Given the description of an element on the screen output the (x, y) to click on. 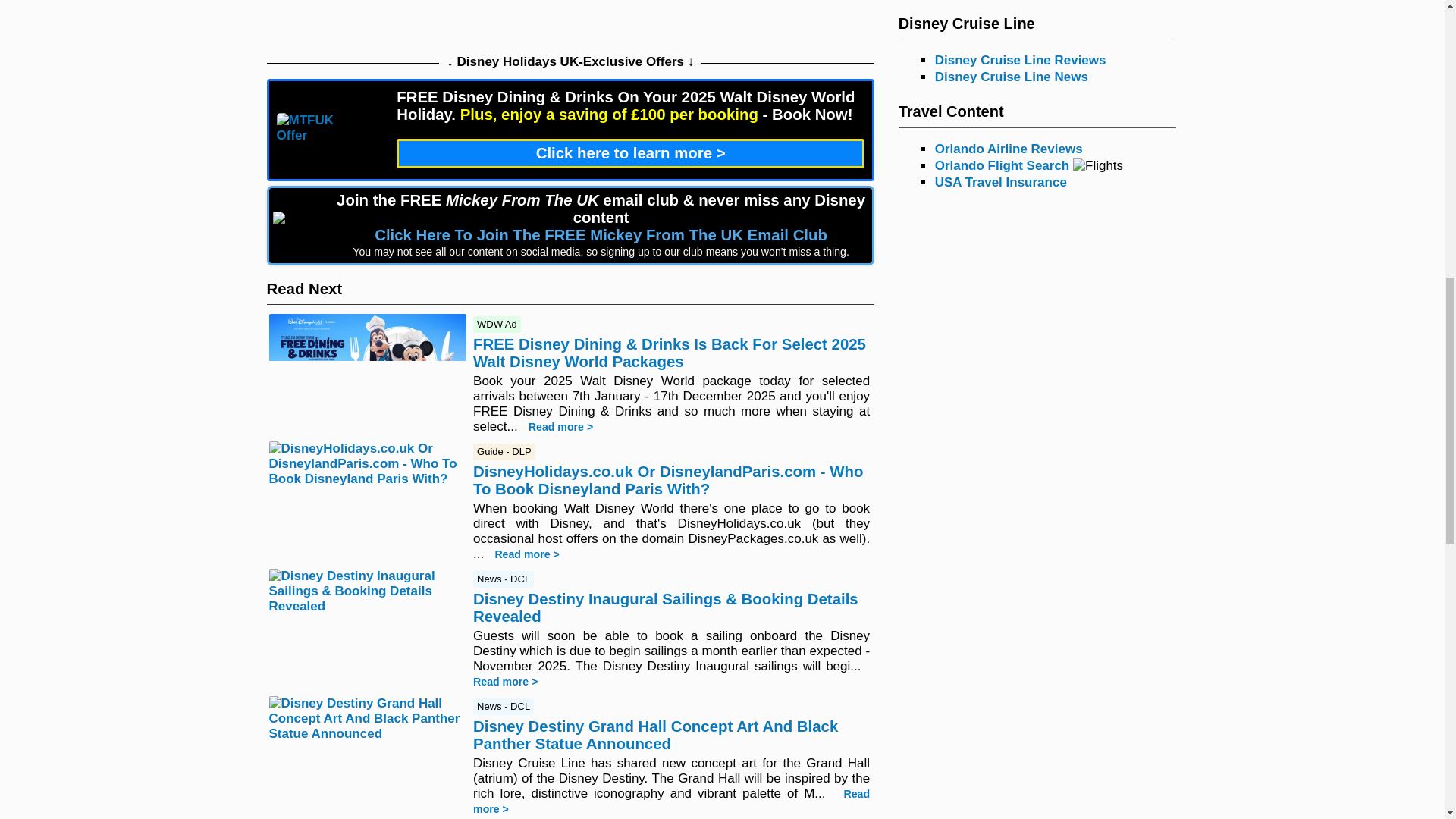
News - DCL (503, 577)
Click Here To Join The FREE Mickey From The UK Email Club (600, 236)
